Given the description of an element on the screen output the (x, y) to click on. 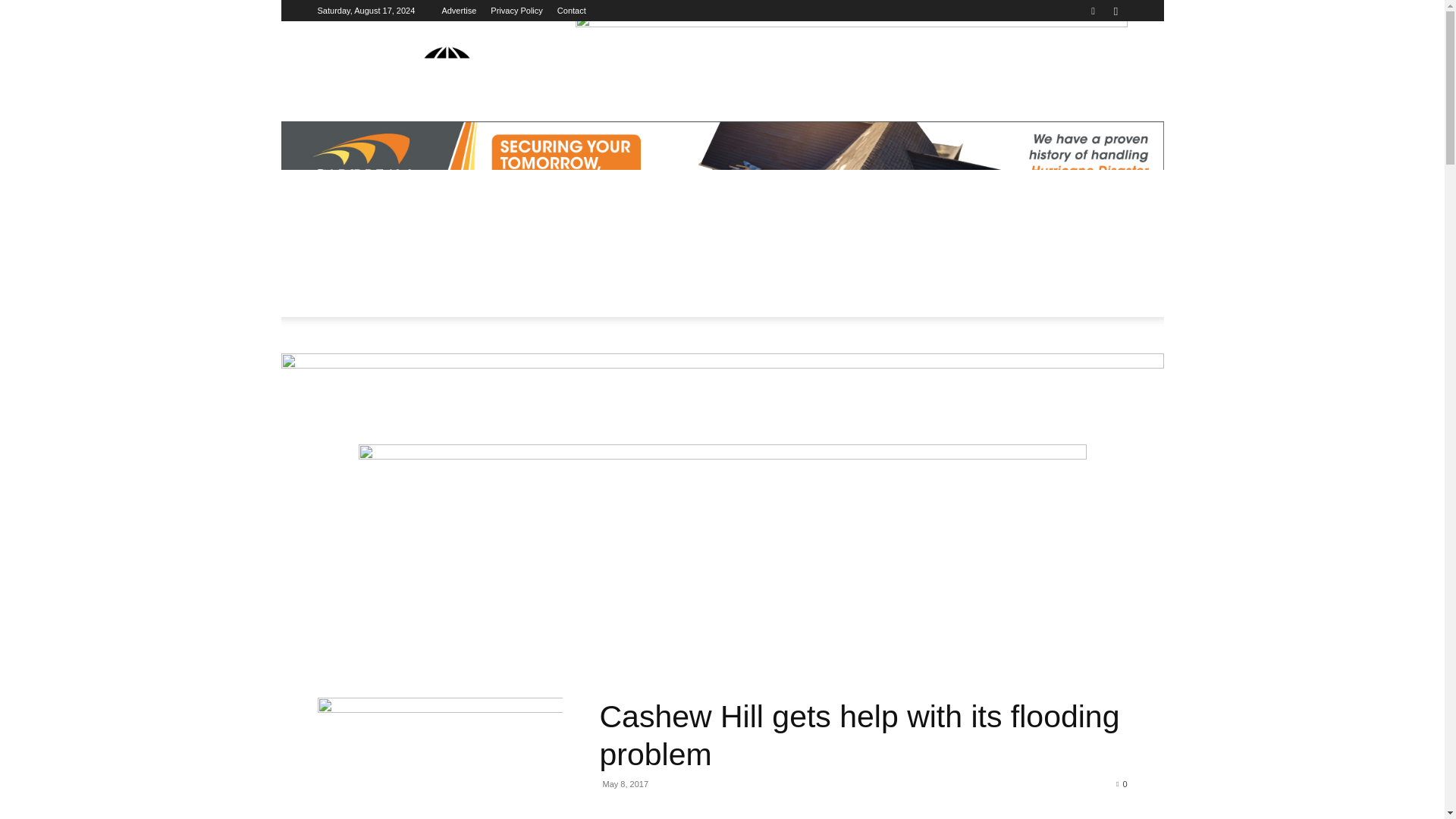
LOCAL NEWS (416, 286)
Privacy Policy (515, 10)
Advertise (458, 10)
Search (1085, 64)
Instagram (1114, 10)
Contact (571, 10)
